Given the description of an element on the screen output the (x, y) to click on. 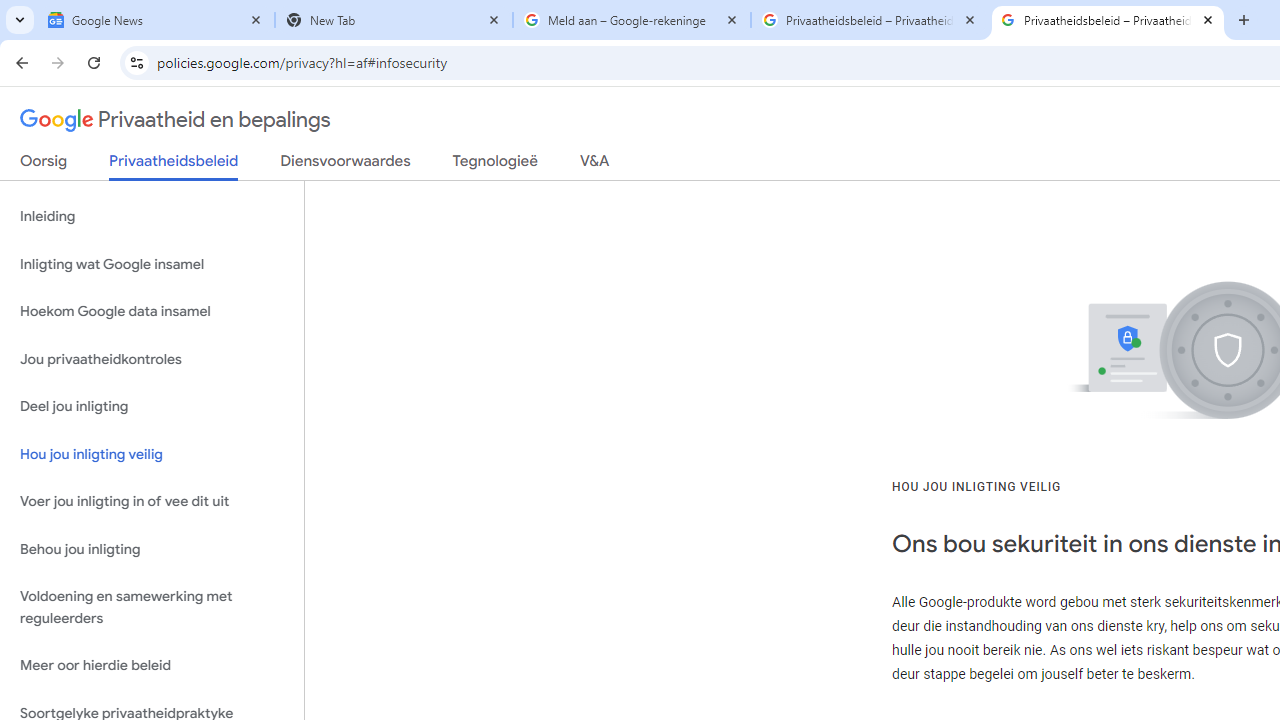
Diensvoorwaardes (345, 165)
Hou jou inligting veilig (152, 453)
Inligting wat Google insamel (152, 263)
Oorsig (43, 165)
Meer oor hierdie beleid (152, 666)
Inleiding (152, 216)
Voldoening en samewerking met reguleerders (152, 607)
Deel jou inligting (152, 407)
V&A (594, 165)
Privaatheidsbeleid (173, 166)
